Given the description of an element on the screen output the (x, y) to click on. 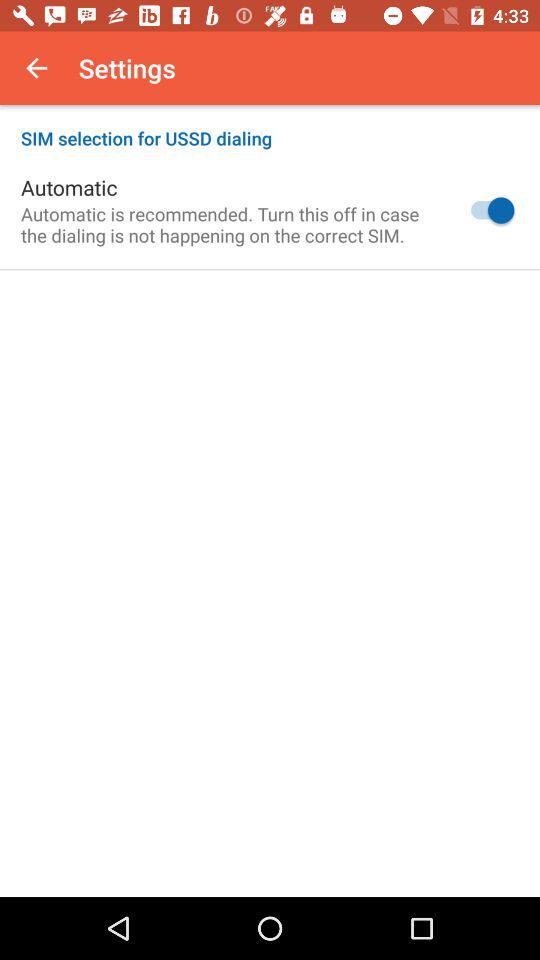
scroll until the sim selection for (270, 127)
